Given the description of an element on the screen output the (x, y) to click on. 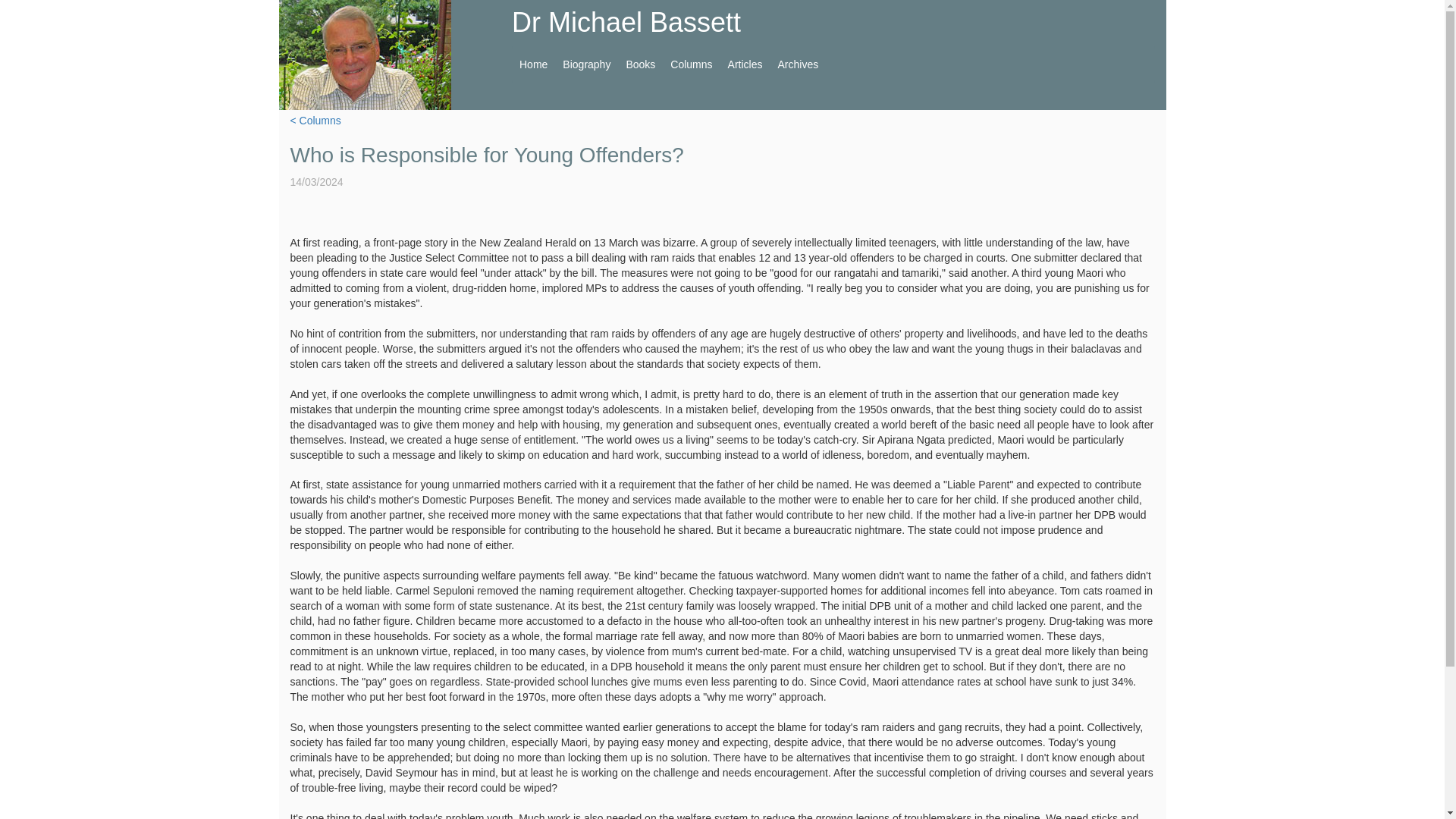
Archives (797, 64)
Biography (585, 64)
Columns (690, 64)
Books (639, 64)
Articles (745, 64)
